Given the description of an element on the screen output the (x, y) to click on. 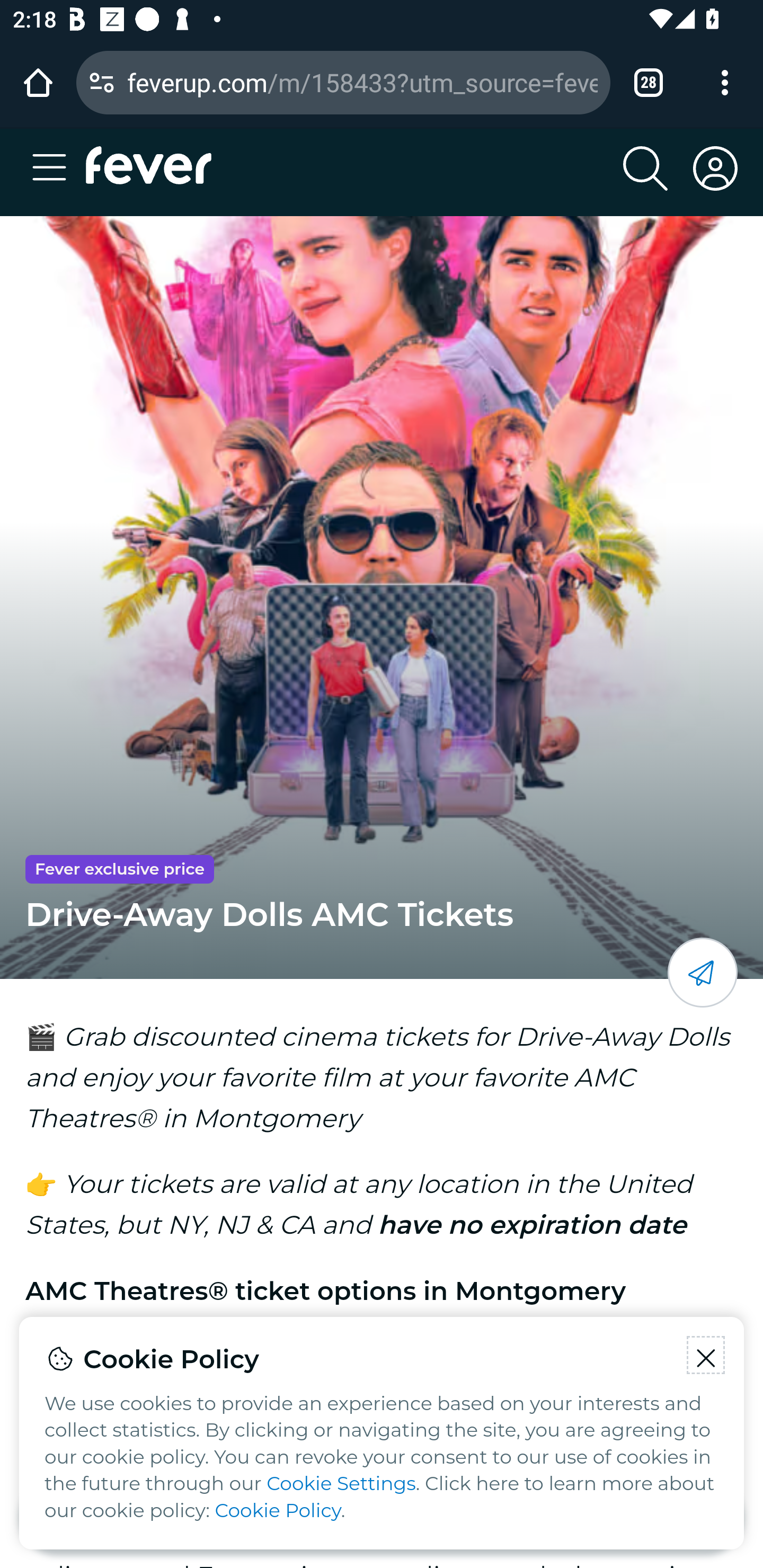
Open the home page (38, 82)
Connection is secure (101, 82)
Switch or close tabs (648, 82)
Customize and control Google Chrome (724, 82)
Toggle navigation (55, 168)
